Given the description of an element on the screen output the (x, y) to click on. 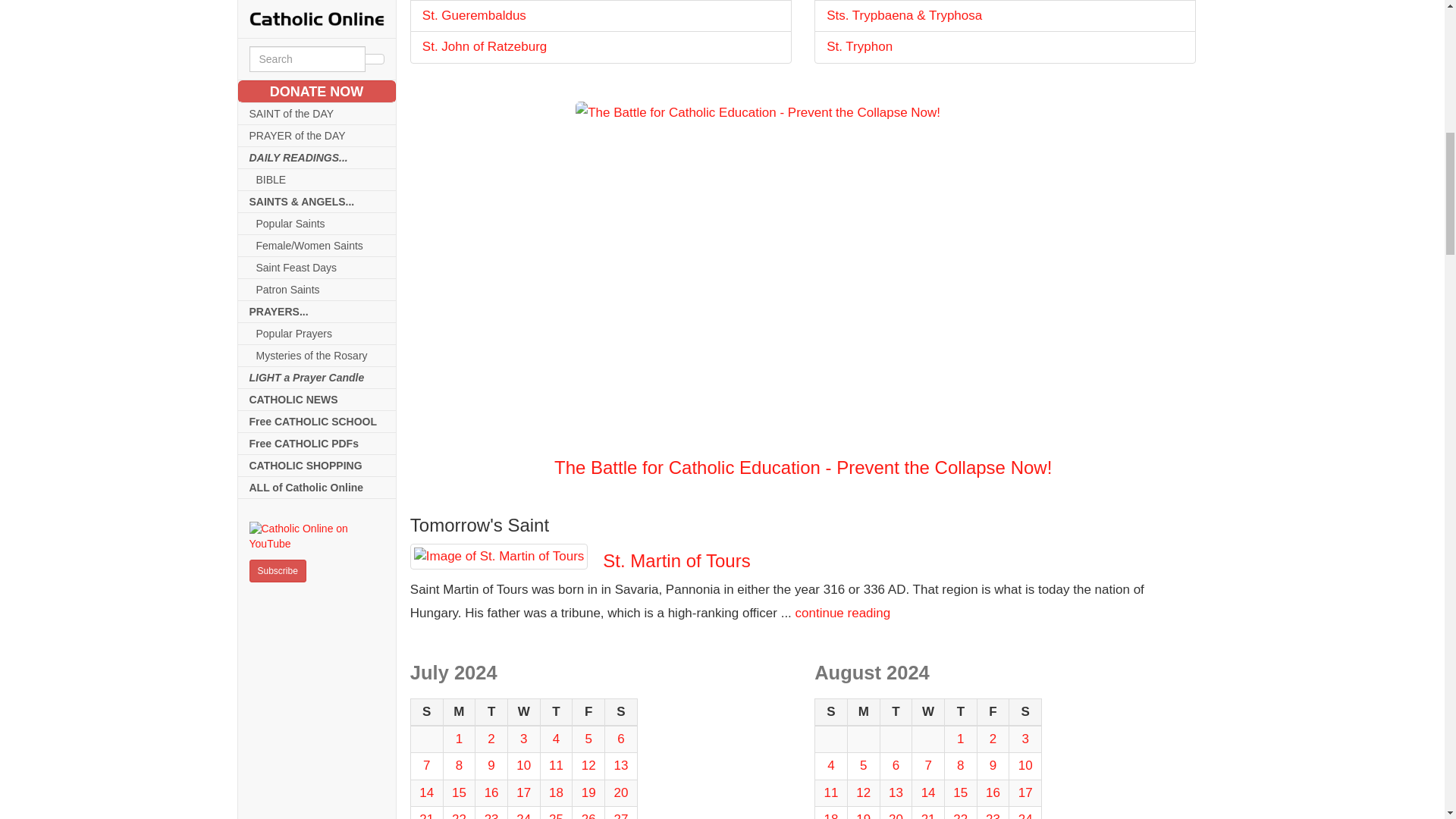
St. Martin of Tours (499, 556)
